Given the description of an element on the screen output the (x, y) to click on. 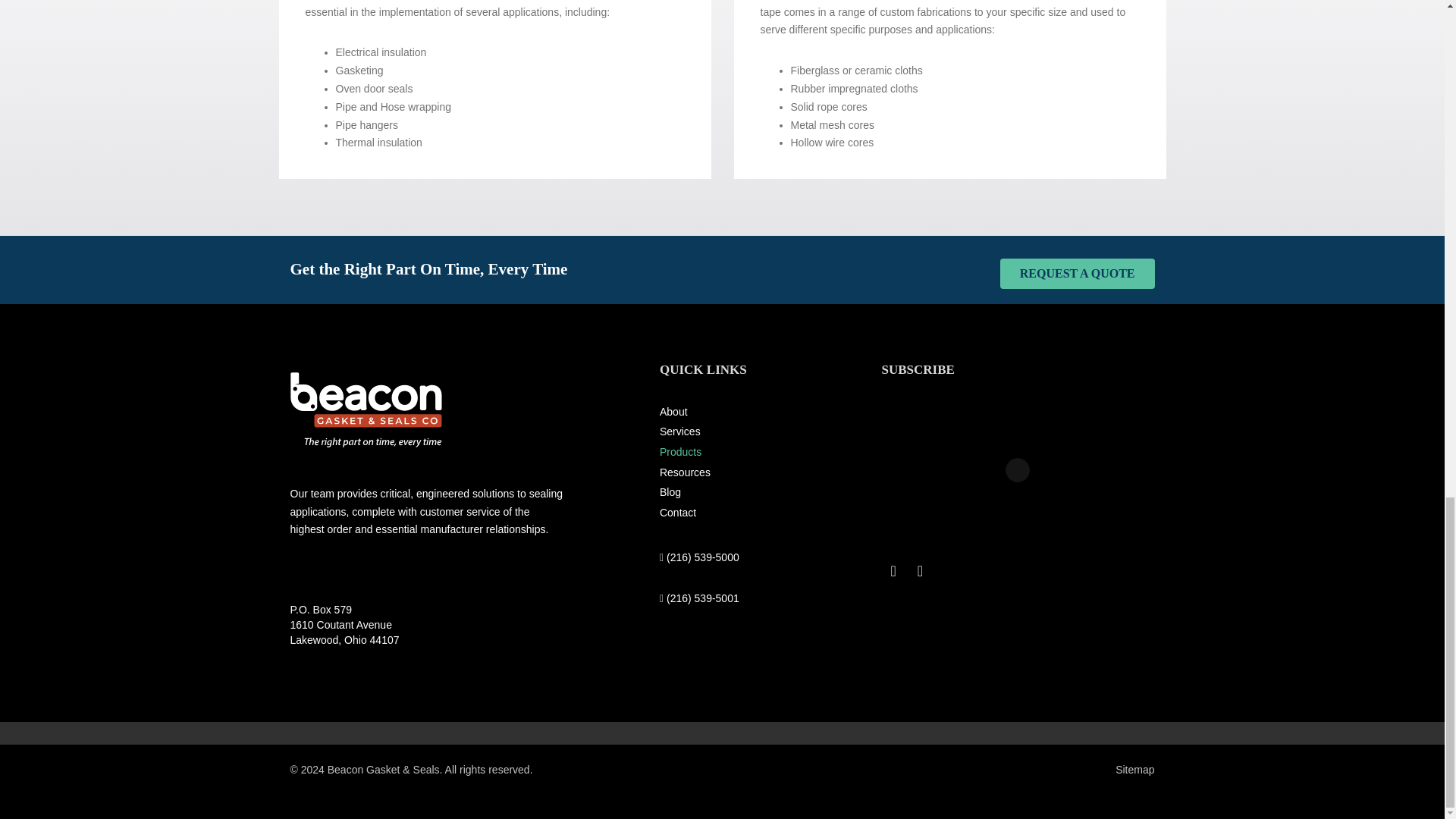
Resources (721, 472)
REQUEST A QUOTE (1077, 273)
About (721, 412)
Services (721, 431)
Products (721, 452)
Blog (721, 492)
